Given the description of an element on the screen output the (x, y) to click on. 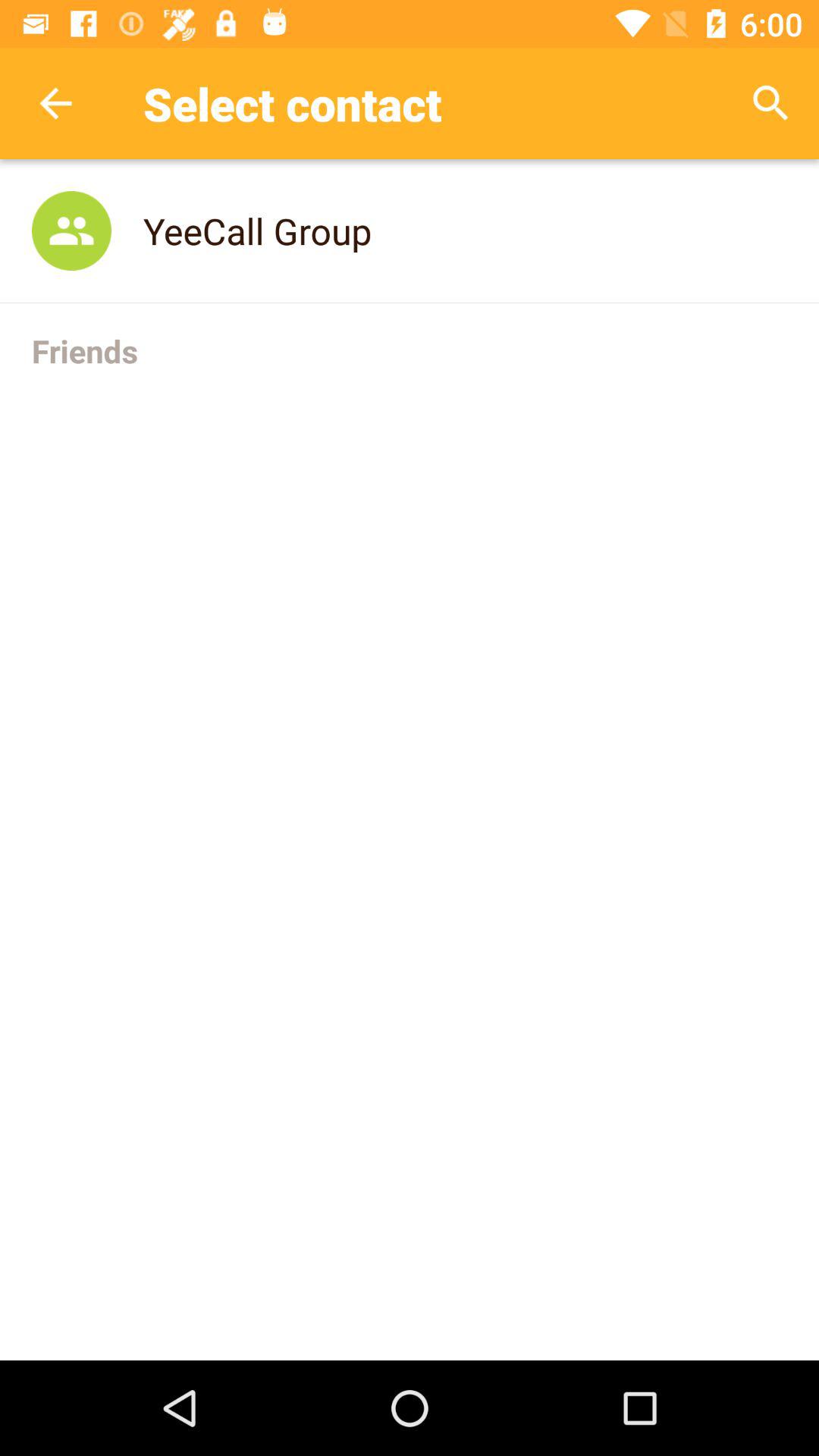
go to previous page (55, 103)
